Given the description of an element on the screen output the (x, y) to click on. 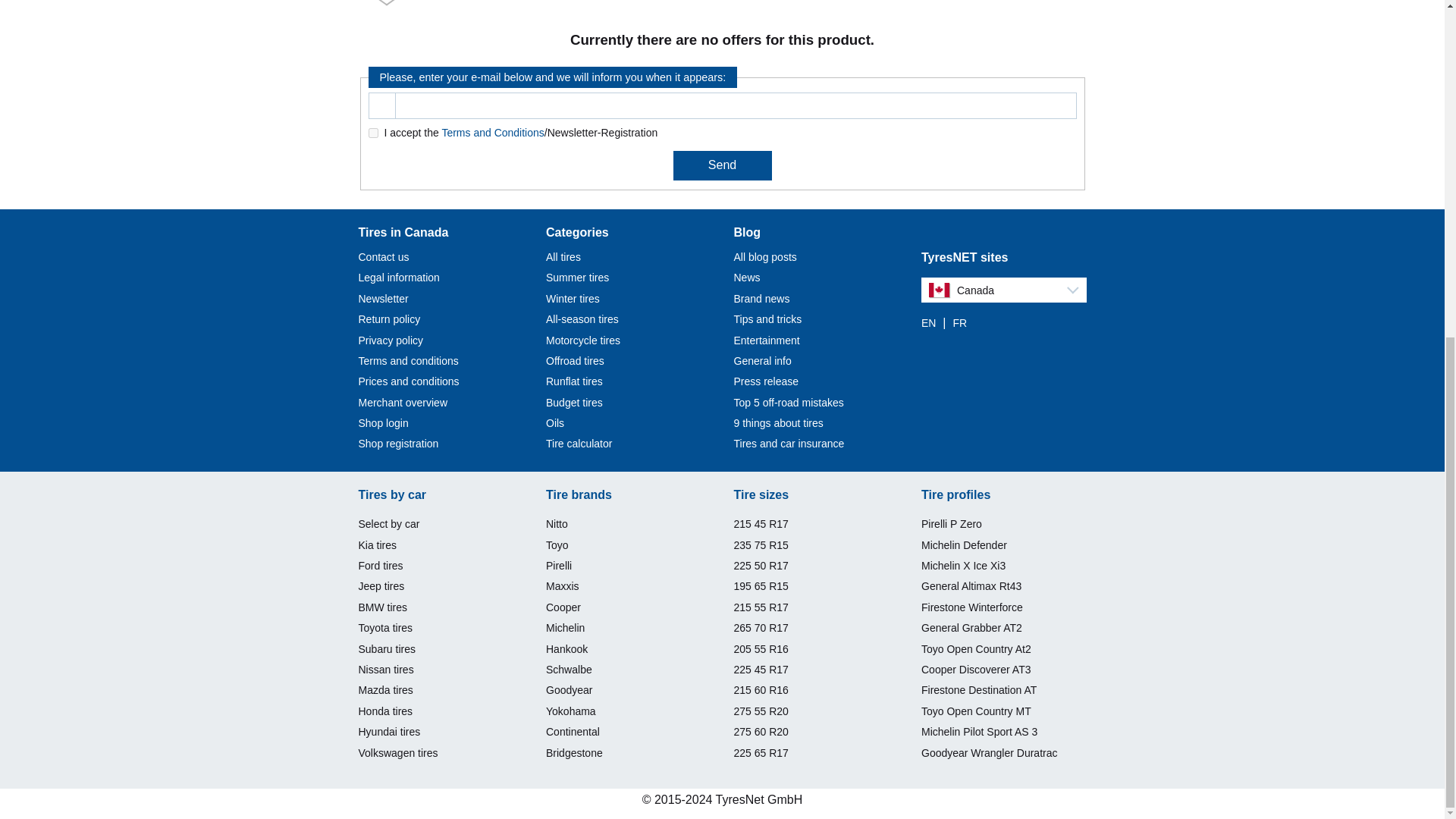
on (373, 132)
Newsletter (382, 298)
Terms and Conditions (492, 132)
Return policy (389, 318)
Send (721, 164)
Legal information (398, 277)
Privacy policy (390, 340)
Prices and conditions (408, 381)
Contact us (383, 256)
Send (721, 164)
Terms and conditions (408, 360)
